Given the description of an element on the screen output the (x, y) to click on. 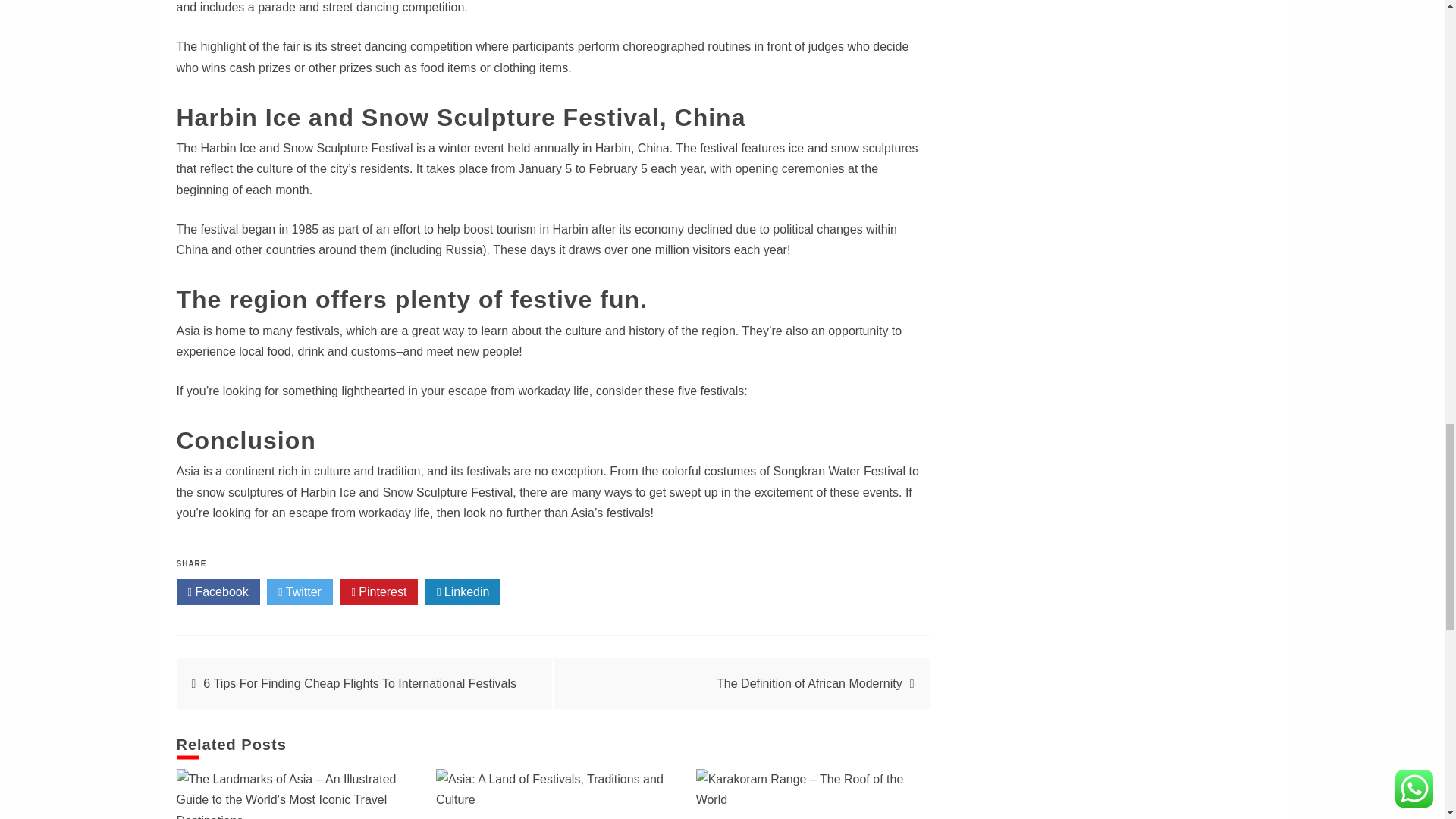
Asia: A Land of Festivals, Traditions and Culture (552, 789)
Facebook (217, 592)
Linkedin (462, 592)
6 Tips For Finding Cheap Flights To International Festivals (359, 683)
Twitter (299, 592)
Pinterest (378, 592)
